Given the description of an element on the screen output the (x, y) to click on. 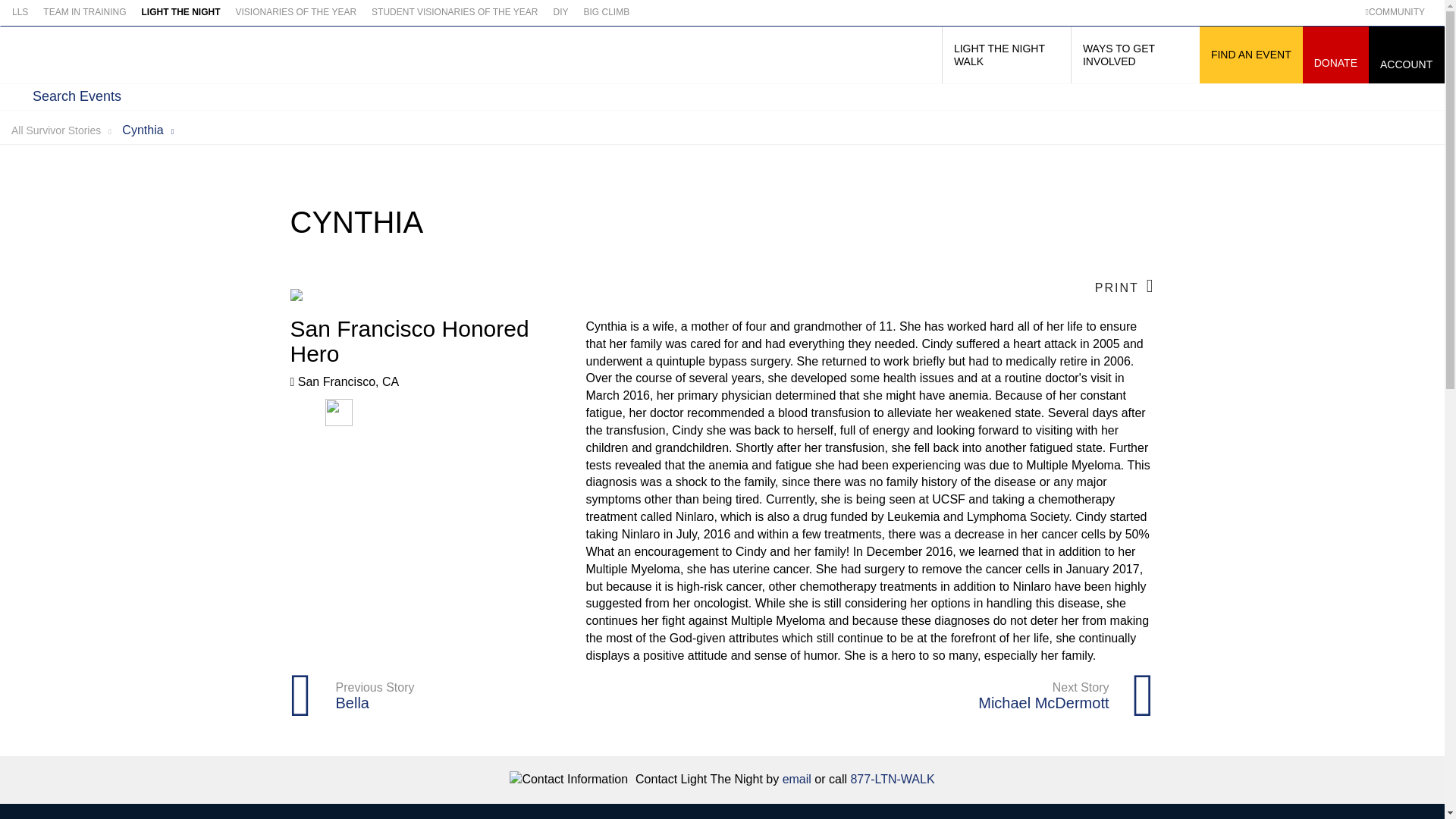
WAYS TO GET INVOLVED (1134, 54)
FIND AN EVENT (1251, 54)
COMMUNITY (1398, 11)
VISIONARIES OF THE YEAR (295, 11)
DIY (559, 11)
LLS (22, 11)
BIG CLIMB (606, 11)
TEAM IN TRAINING (83, 11)
LIGHT THE NIGHT WALK (1006, 54)
LIGHT THE NIGHT (180, 11)
